Given the description of an element on the screen output the (x, y) to click on. 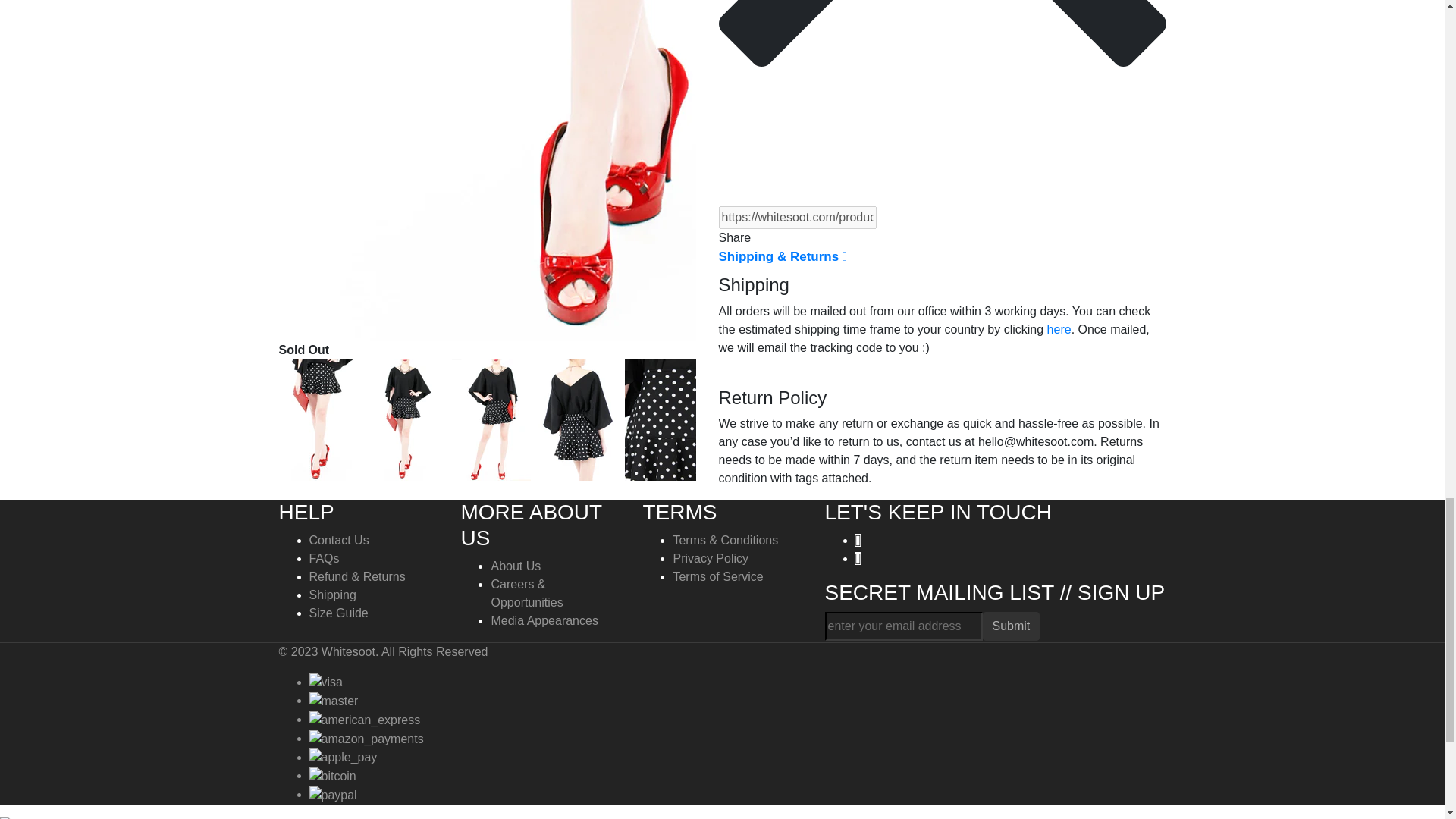
Shipping (332, 594)
Contact Us (338, 540)
Submit (1011, 625)
FAQs (323, 558)
